Given the description of an element on the screen output the (x, y) to click on. 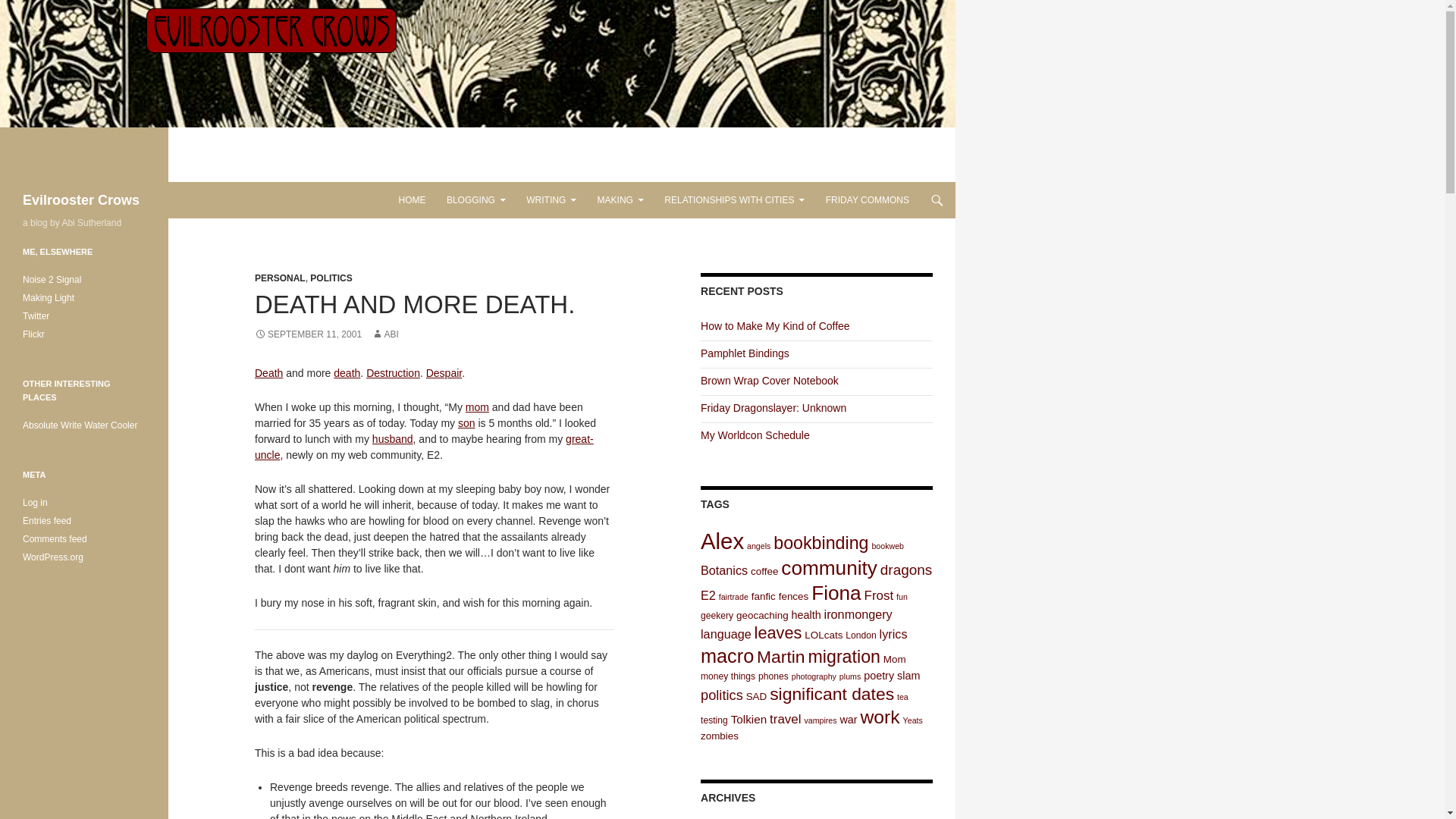
Death (268, 372)
WRITING (550, 199)
FRIDAY COMMONS (867, 199)
son (467, 422)
RELATIONSHIPS WITH CITIES (734, 199)
MAKING (620, 199)
ABI (384, 334)
husband (392, 439)
Despair (443, 372)
